Given the description of an element on the screen output the (x, y) to click on. 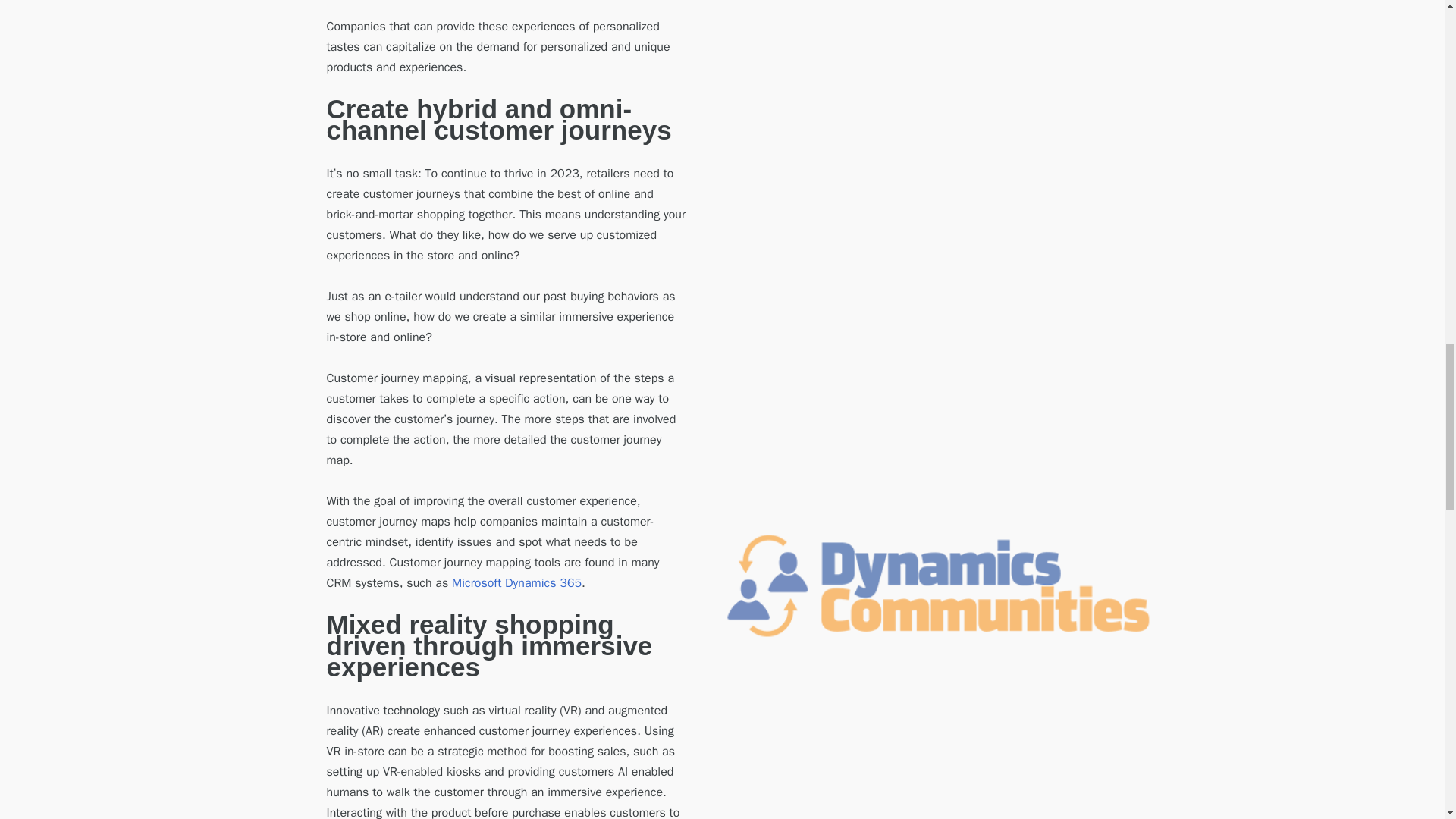
Microsoft Dynamics 365 (515, 582)
